Given the description of an element on the screen output the (x, y) to click on. 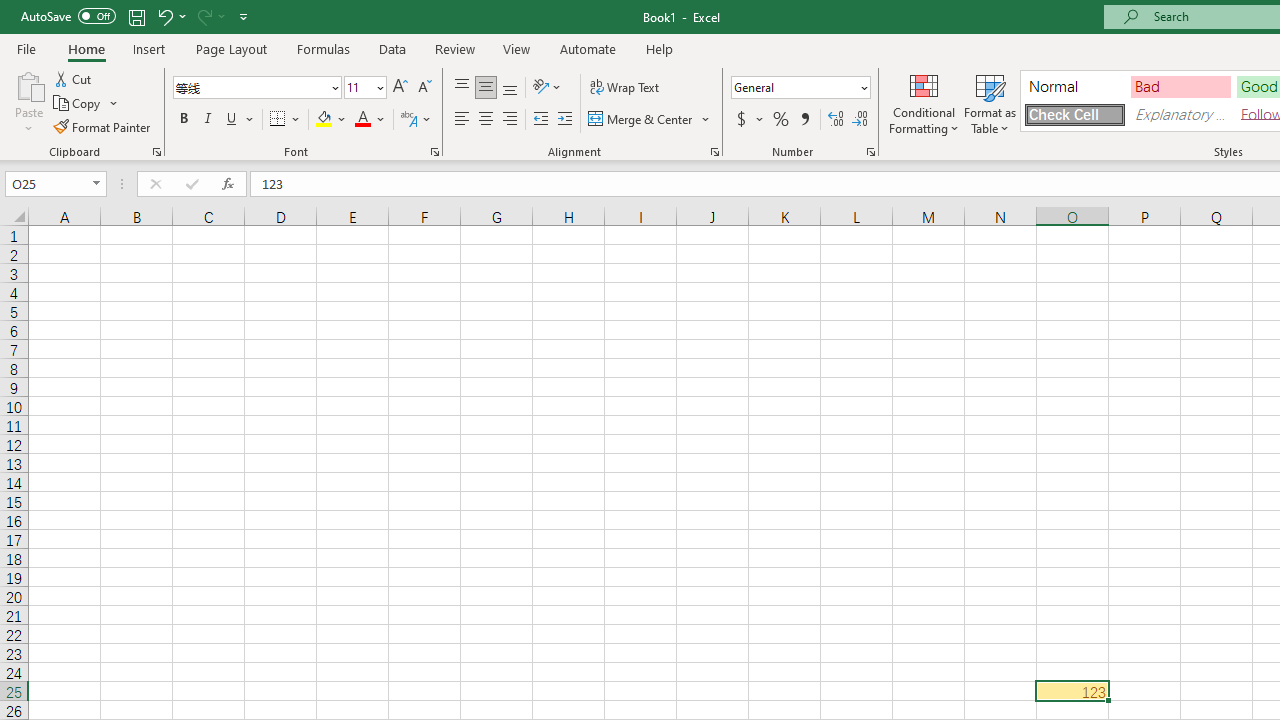
Font (256, 87)
Format Painter (103, 126)
Align Right (509, 119)
View (517, 48)
Accounting Number Format (741, 119)
Bottom Align (509, 87)
Format Cell Alignment (714, 151)
Redo (209, 15)
Customize Quick Access Toolbar (244, 15)
Underline (239, 119)
Undo (164, 15)
Paste (28, 102)
Center (485, 119)
Copy (85, 103)
Merge & Center (649, 119)
